Given the description of an element on the screen output the (x, y) to click on. 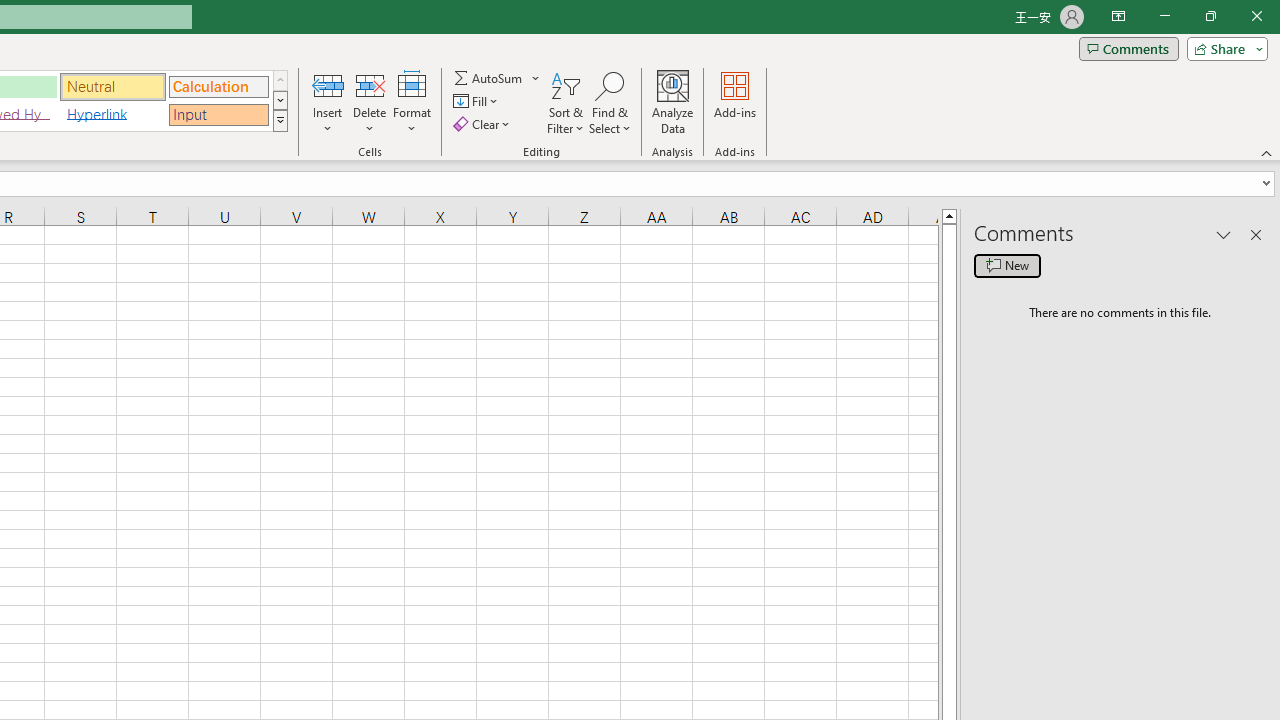
Row up (280, 79)
Delete Cells... (369, 84)
Cell Styles (280, 120)
Restore Down (1210, 16)
Comments (1128, 48)
Minimize (1164, 16)
Hyperlink (113, 114)
Task Pane Options (1224, 234)
Share (1223, 48)
Class: NetUIImage (280, 120)
Delete (369, 102)
Insert Cells (328, 84)
AutoSum (497, 78)
Find & Select (610, 102)
